Given the description of an element on the screen output the (x, y) to click on. 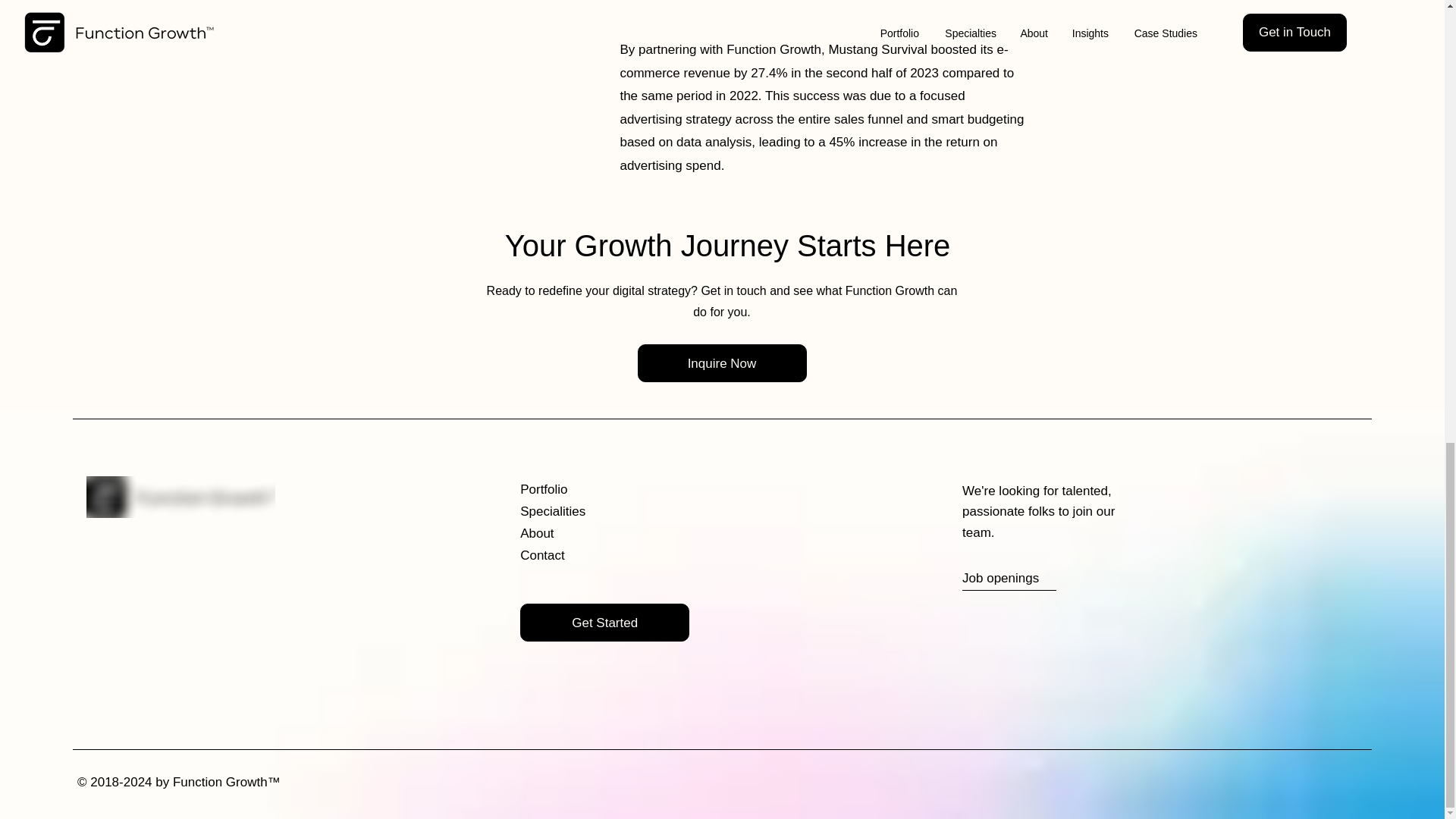
Inquire Now (721, 362)
About (591, 533)
Get Started (603, 622)
Contact (591, 555)
Portfolio (591, 488)
Specialities (591, 511)
Job openings (1033, 579)
